Given the description of an element on the screen output the (x, y) to click on. 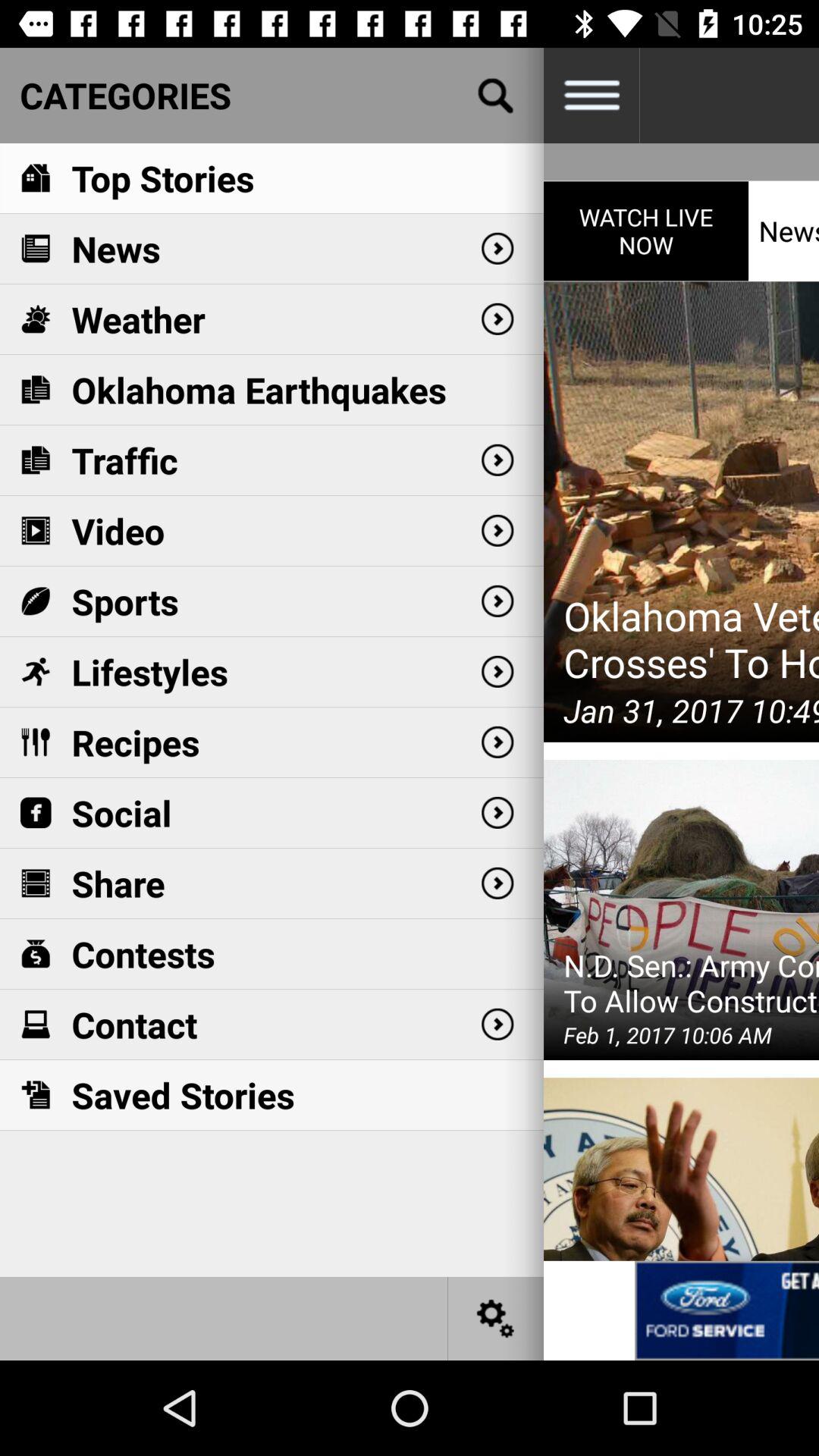
go to advertisement (726, 1310)
